Given the description of an element on the screen output the (x, y) to click on. 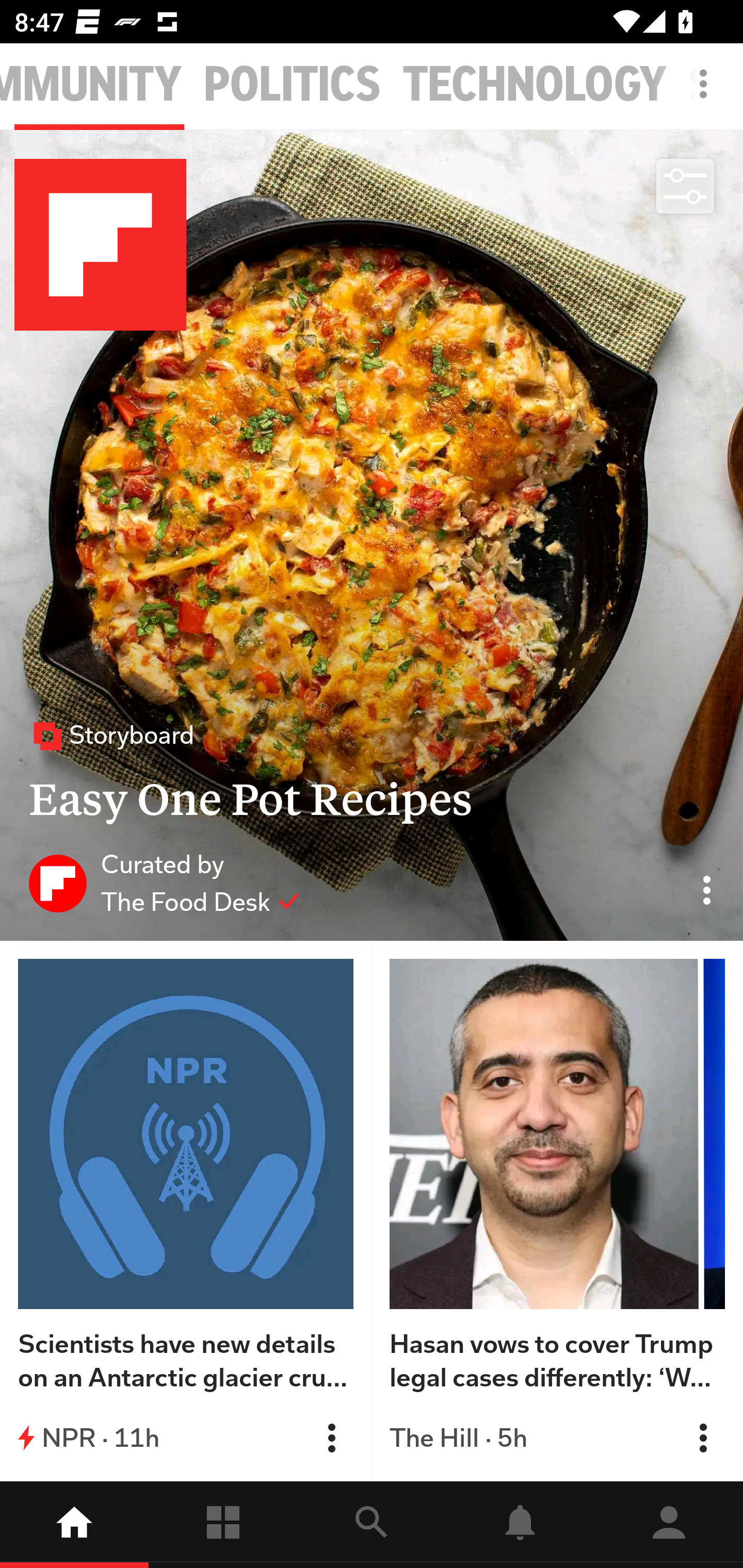
COMMUNITY (91, 84)
POLITICS (292, 84)
TECHNOLOGY (534, 84)
More options (706, 93)
Curated by The Food Desk (163, 882)
NPR · 11h Flip into Magazine (185, 1437)
The Hill · 5h Flip into Magazine (557, 1437)
Flip into Magazine (331, 1437)
Flip into Magazine (703, 1437)
home (74, 1524)
Following (222, 1524)
explore (371, 1524)
Notifications (519, 1524)
Profile (668, 1524)
